Given the description of an element on the screen output the (x, y) to click on. 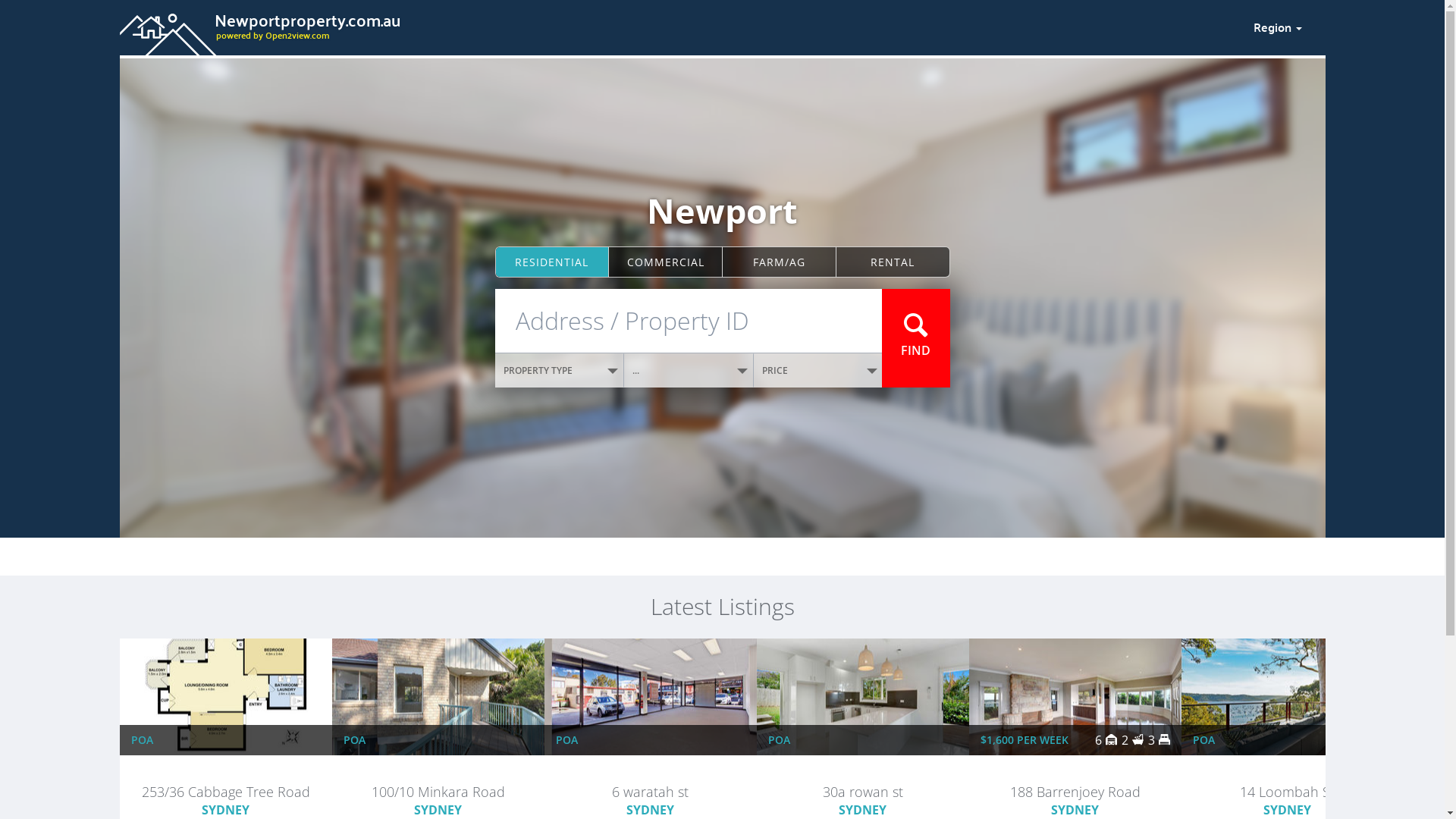
Property #840090 Element type: hover (437, 775)
Property #537029 Element type: hover (649, 775)
Newportproperty.com.au
powered by Open2view.com Element type: text (676, 25)
Property #851140 Element type: hover (225, 775)
Property #484565 Element type: hover (862, 775)
... Element type: text (688, 370)
PROPERTY TYPE Element type: text (559, 370)
PRICE Element type: text (817, 370)
Property #461212 Element type: hover (1286, 775)
Property #473069 Element type: hover (1074, 775)
